Given the description of an element on the screen output the (x, y) to click on. 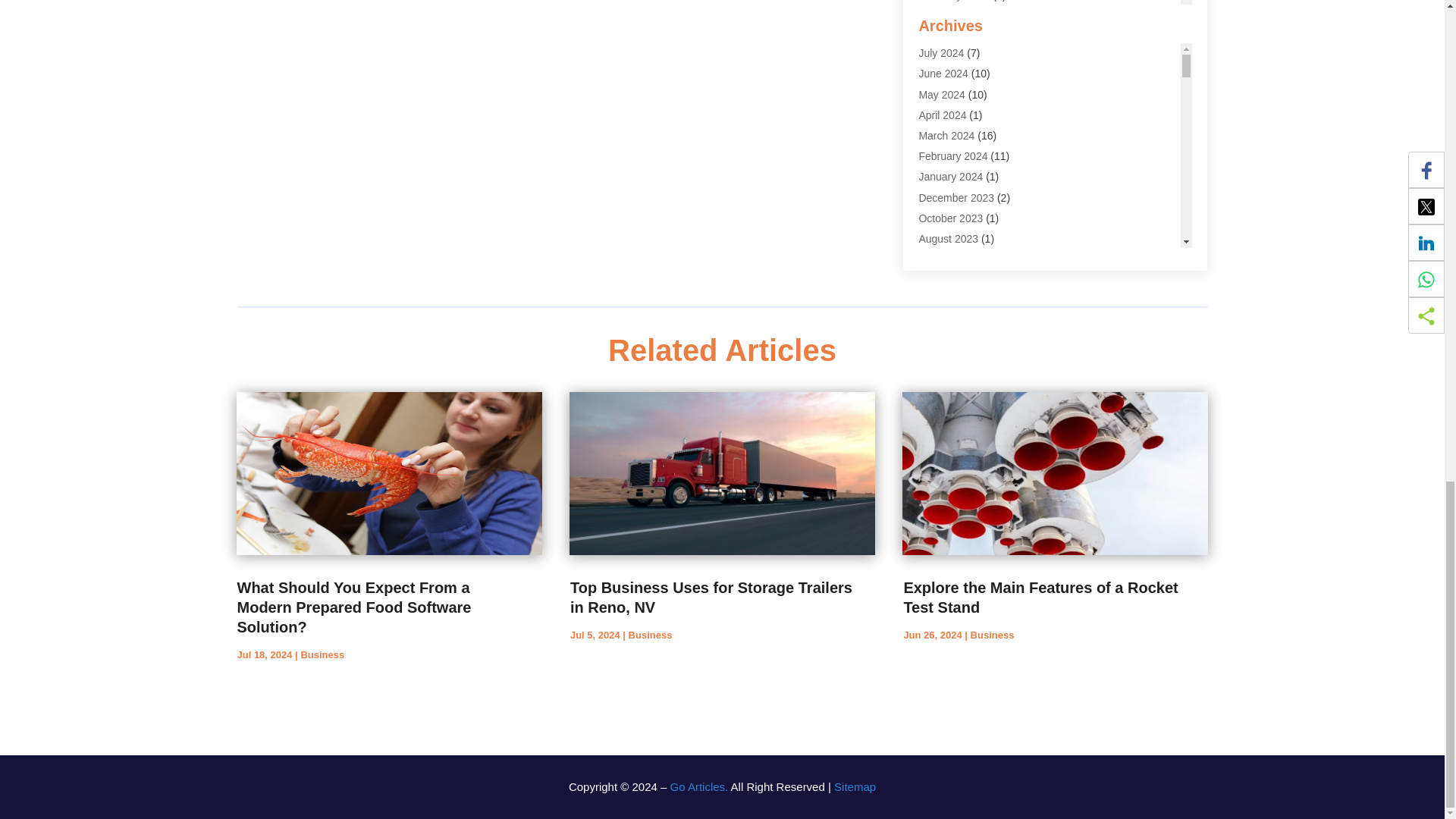
Alignment (941, 15)
Alarm Systems (954, 0)
Allergies (938, 36)
Aluminum Supplier (962, 98)
Aluminium (943, 78)
